Given the description of an element on the screen output the (x, y) to click on. 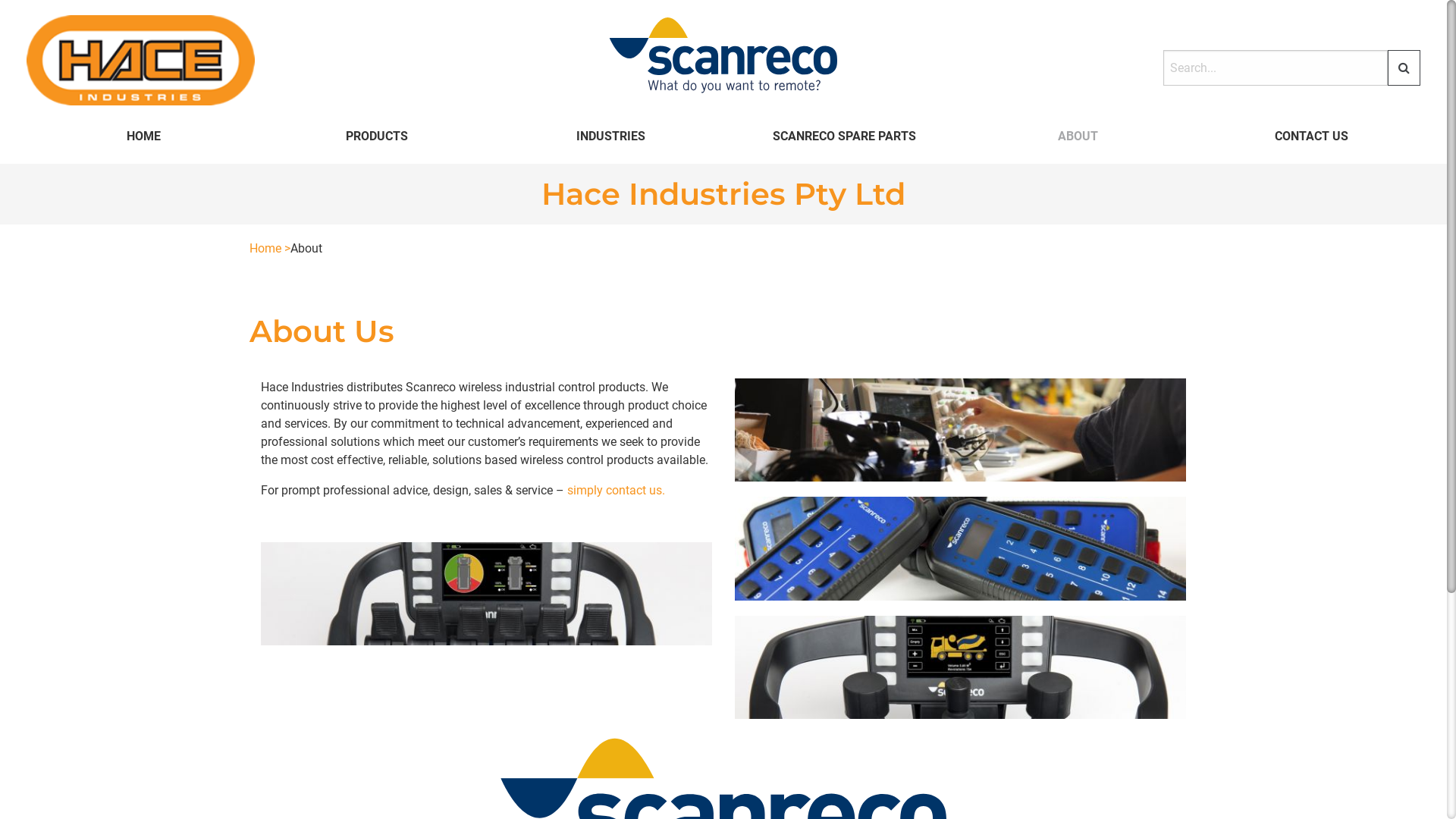
SCANRECO SPARE PARTS Element type: text (840, 136)
INDUSTRIES Element type: text (606, 136)
ABOUT Element type: text (1073, 136)
Home > Element type: text (269, 248)
CONTACT US Element type: text (1307, 136)
go Element type: text (1407, 126)
PRODUCTS Element type: text (372, 136)
go Element type: text (1403, 67)
simply contact us. Element type: text (616, 490)
HOME Element type: text (139, 136)
